Given the description of an element on the screen output the (x, y) to click on. 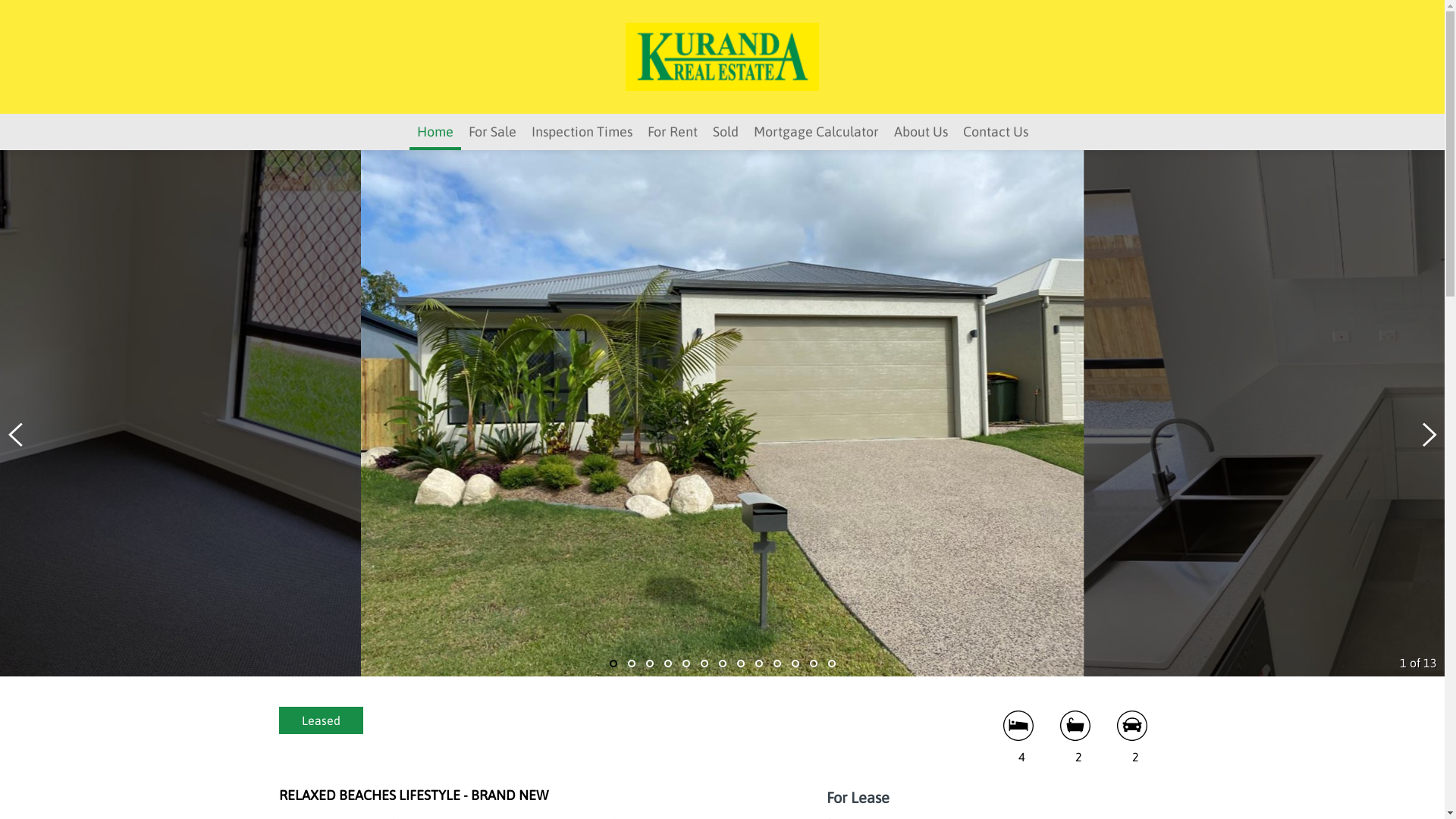
For Rent Element type: text (672, 131)
Sold Element type: text (725, 131)
For Sale Element type: text (492, 131)
About Us Element type: text (919, 131)
Contact Us Element type: text (995, 131)
Inspection Times Element type: text (581, 131)
Mortgage Calculator Element type: text (816, 131)
Home Element type: text (435, 131)
